Given the description of an element on the screen output the (x, y) to click on. 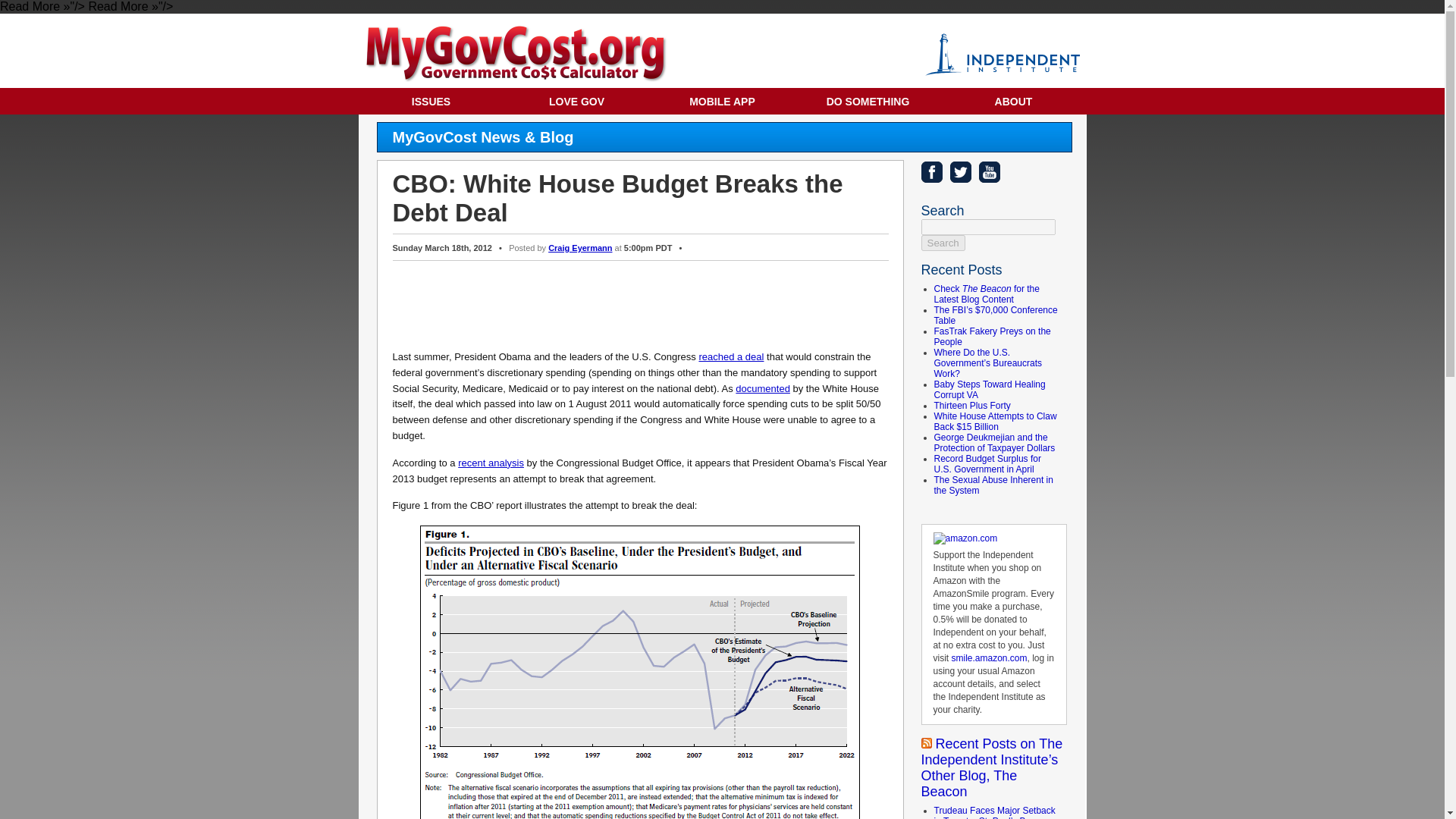
ABOUT (1013, 100)
cbo-analysis-presidents-fy2013-budget-figure-1 (640, 672)
Craig Eyermann (579, 247)
ISSUES (430, 100)
Search (941, 242)
MOBILE APP (721, 100)
recent analysis (491, 462)
Check The Beacon for the Latest Blog Content (986, 293)
reached a deal (730, 356)
LOVE GOV (576, 100)
documented (762, 388)
DO SOMETHING (867, 100)
FasTrak Fakery Preys on the People (992, 336)
Search (941, 242)
